Given the description of an element on the screen output the (x, y) to click on. 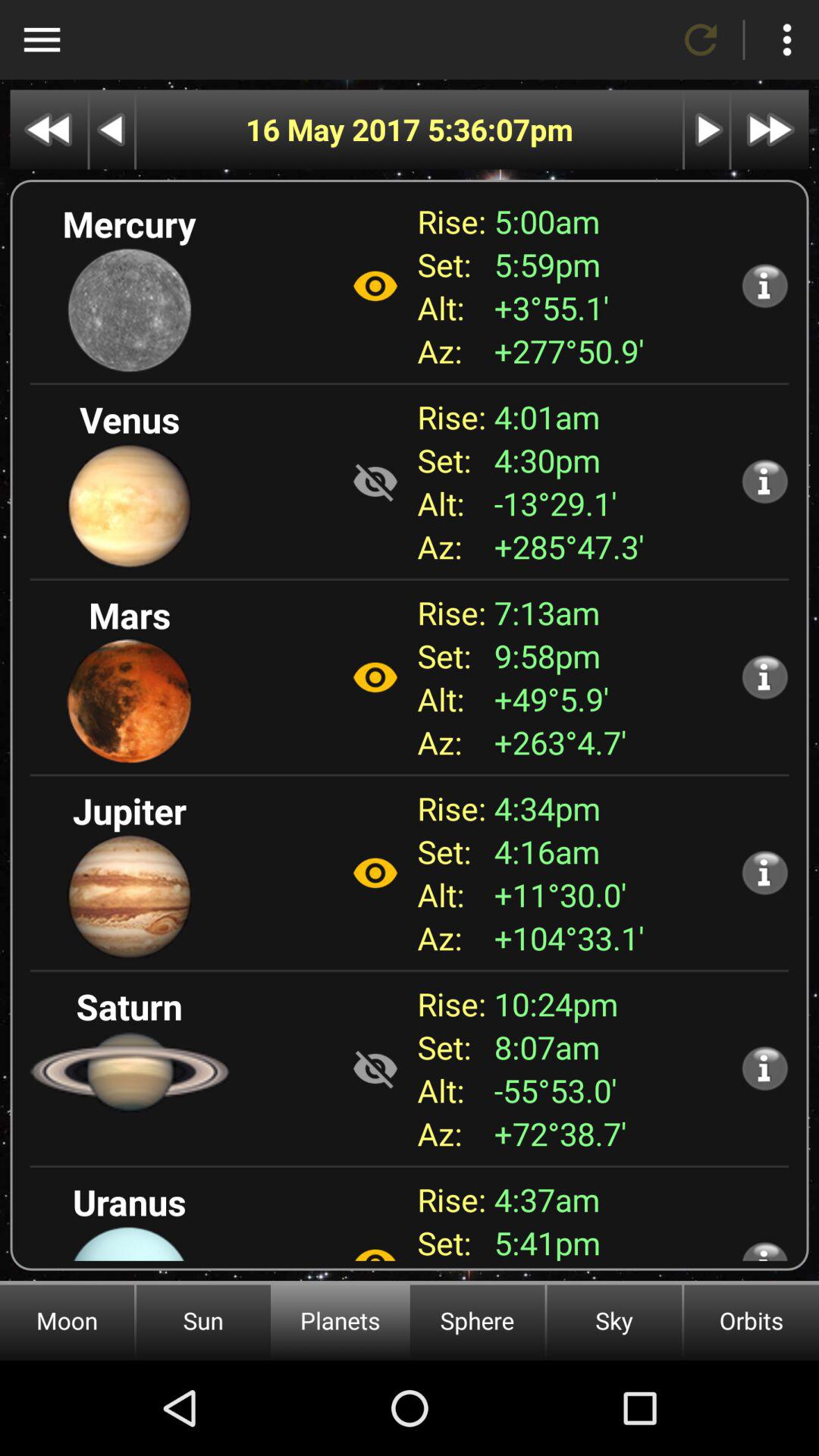
show more info (764, 872)
